Given the description of an element on the screen output the (x, y) to click on. 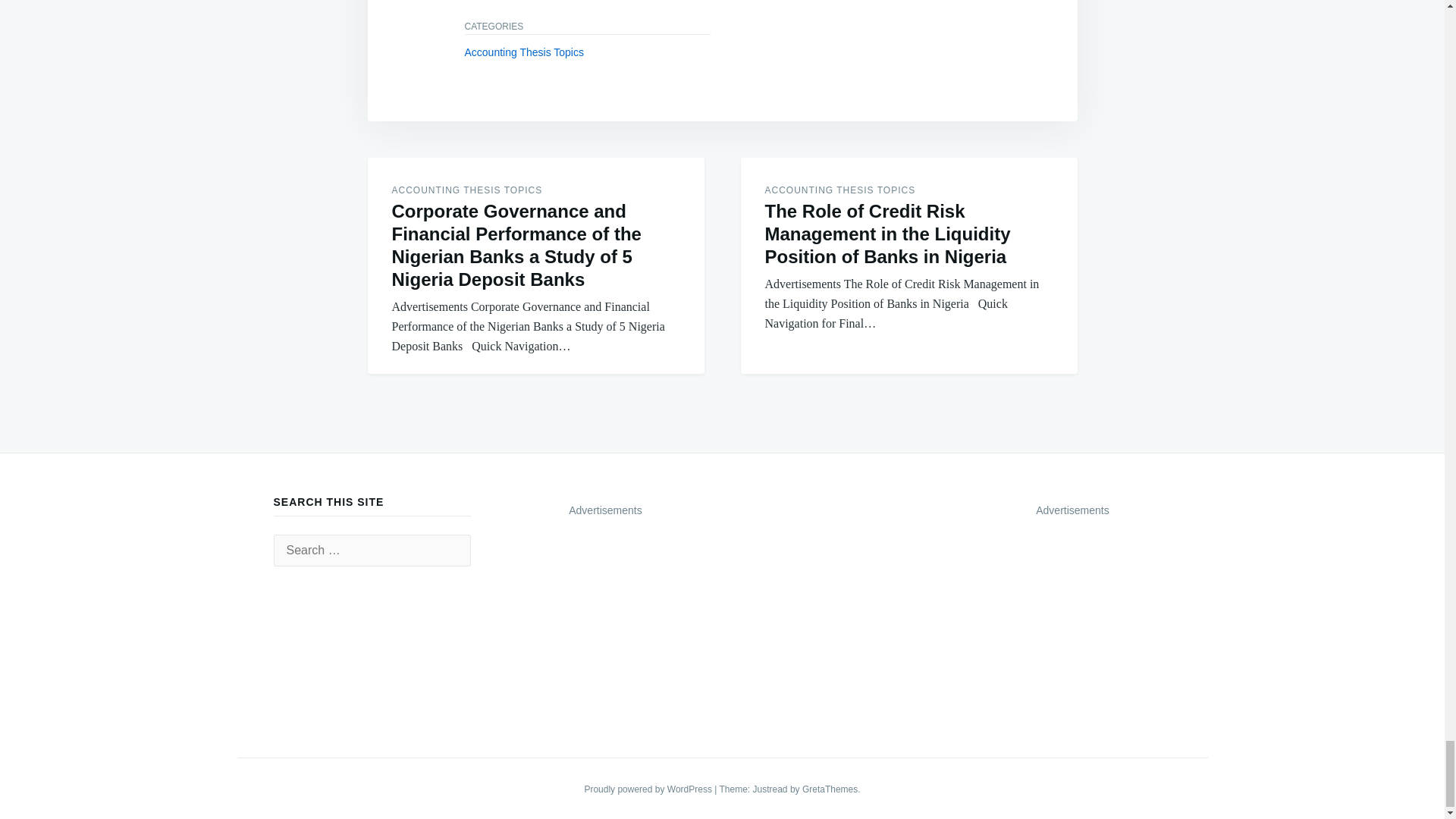
Accounting Thesis Topics (523, 51)
ACCOUNTING THESIS TOPICS (839, 190)
Proudly powered by WordPress (648, 788)
ACCOUNTING THESIS TOPICS (466, 190)
GretaThemes (829, 788)
